Given the description of an element on the screen output the (x, y) to click on. 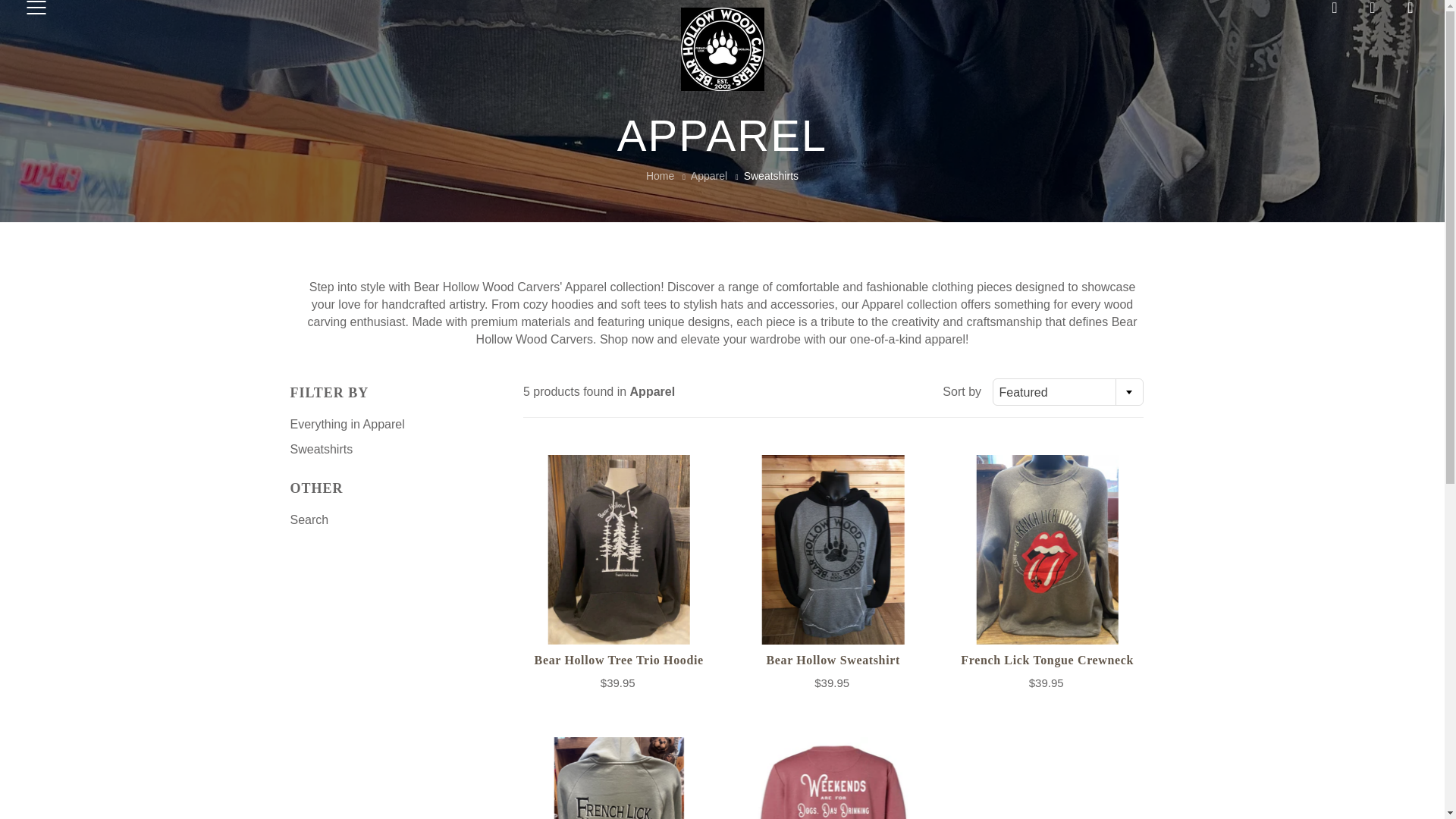
Featured (1067, 392)
Press space bar to toggle menu (36, 9)
Sweatshirts (320, 449)
Remove tag Sweatshirts (320, 449)
Everything in Apparel (346, 423)
Home (660, 175)
Apparel (708, 175)
Home (660, 175)
